Given the description of an element on the screen output the (x, y) to click on. 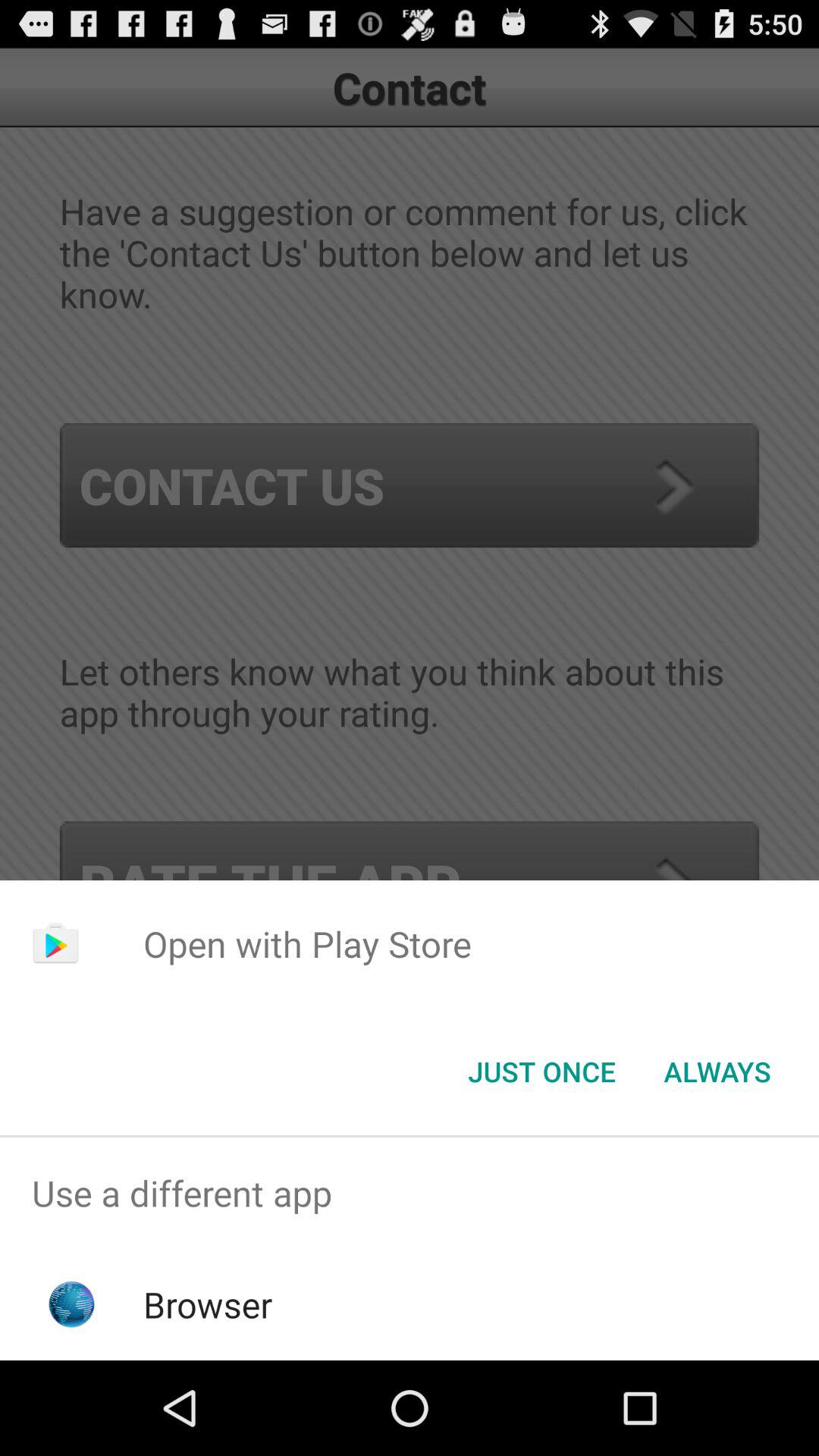
select the icon to the right of the just once icon (717, 1071)
